Given the description of an element on the screen output the (x, y) to click on. 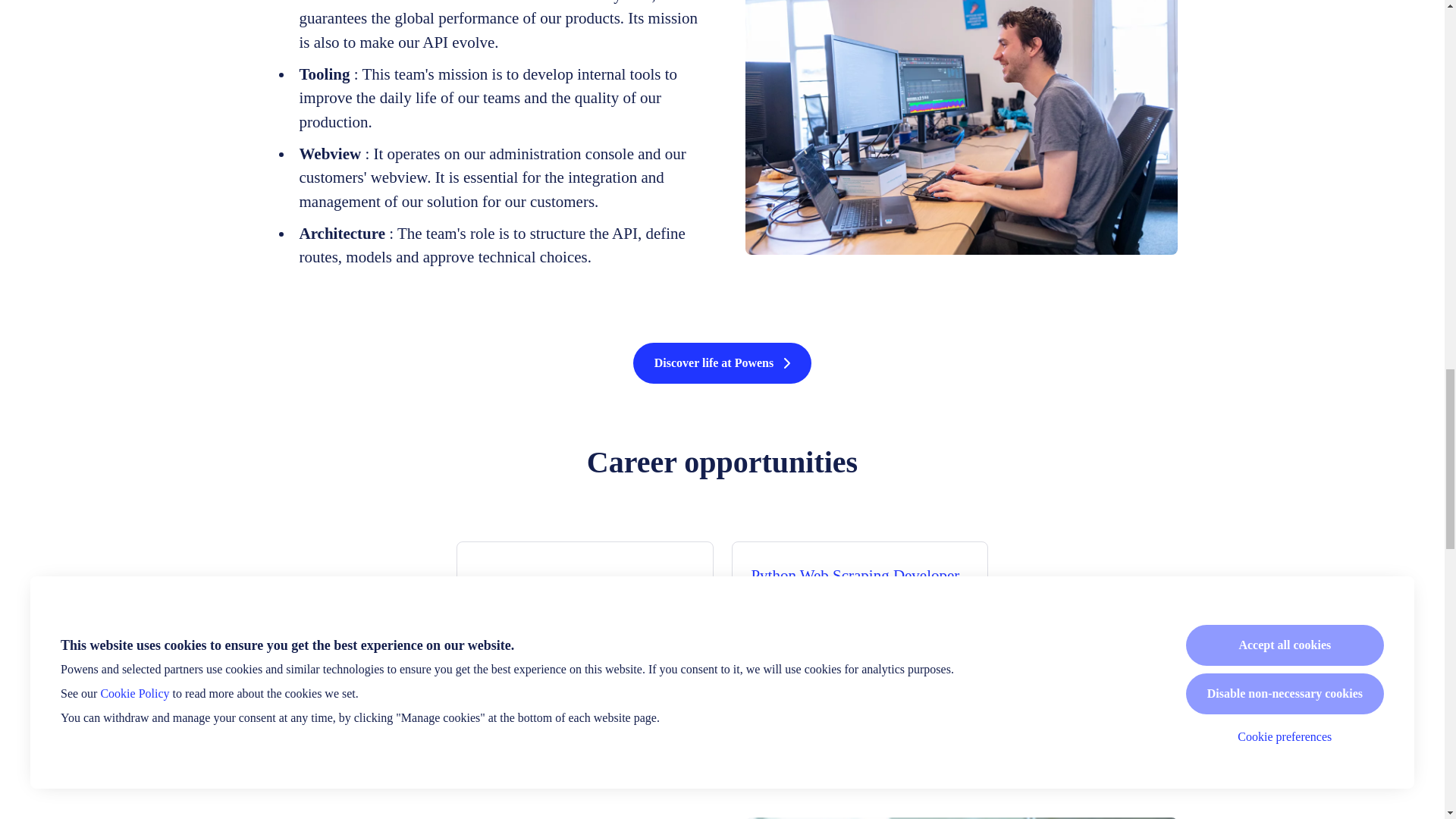
Discover life at Powens (721, 363)
Python Web Scraping Developer - Apprenticeship (859, 587)
Engineering Manager (584, 588)
All jobs (722, 735)
